Given the description of an element on the screen output the (x, y) to click on. 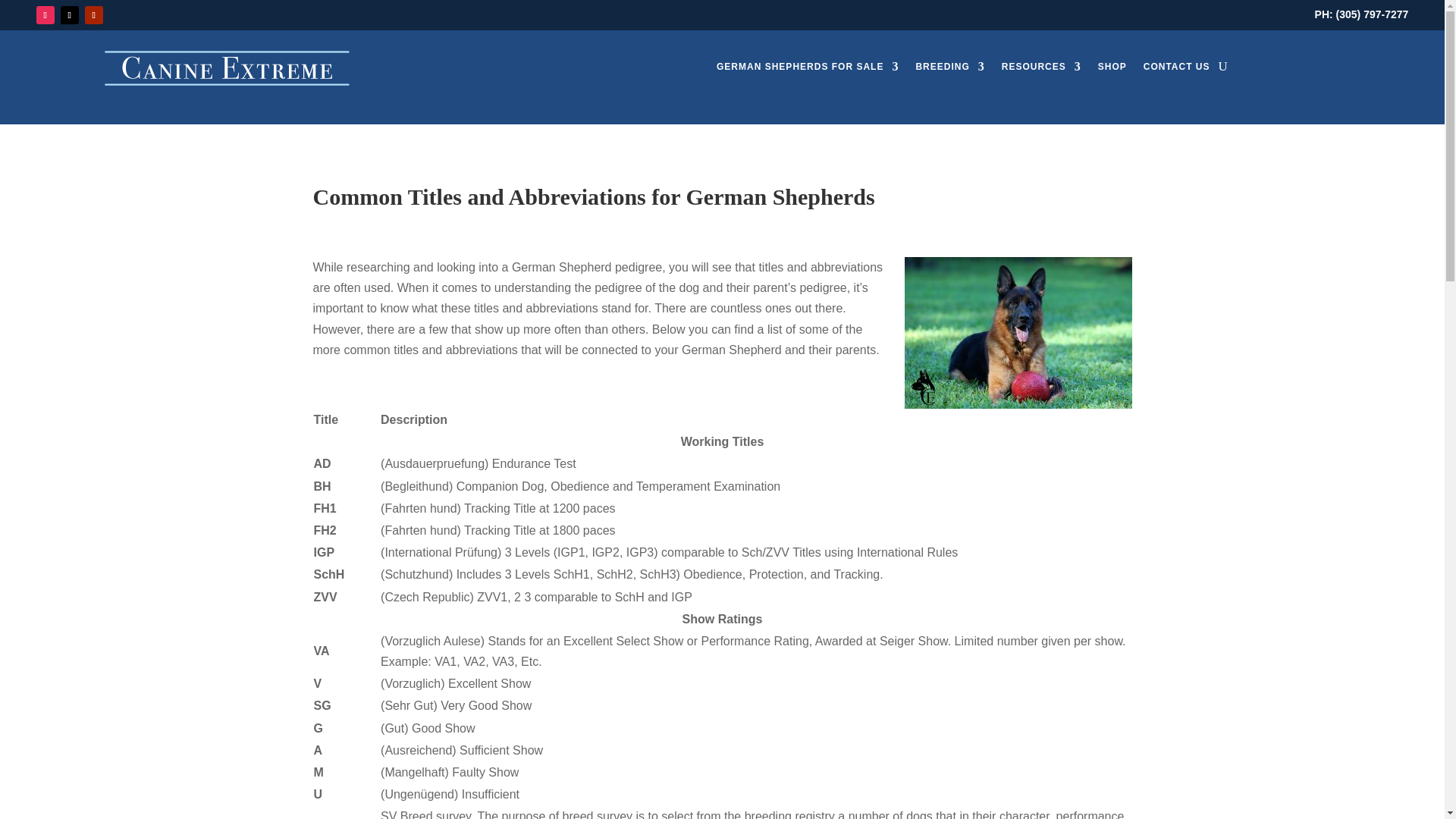
Follow on X (69, 14)
canine-extreme-logo (229, 67)
Follow on Youtube (93, 14)
Follow on Instagram (45, 14)
SHOP (1111, 69)
CONTACT US (1175, 69)
GERMAN SHEPHERDS FOR SALE (807, 69)
BREEDING (949, 69)
RESOURCES (1041, 69)
